Given the description of an element on the screen output the (x, y) to click on. 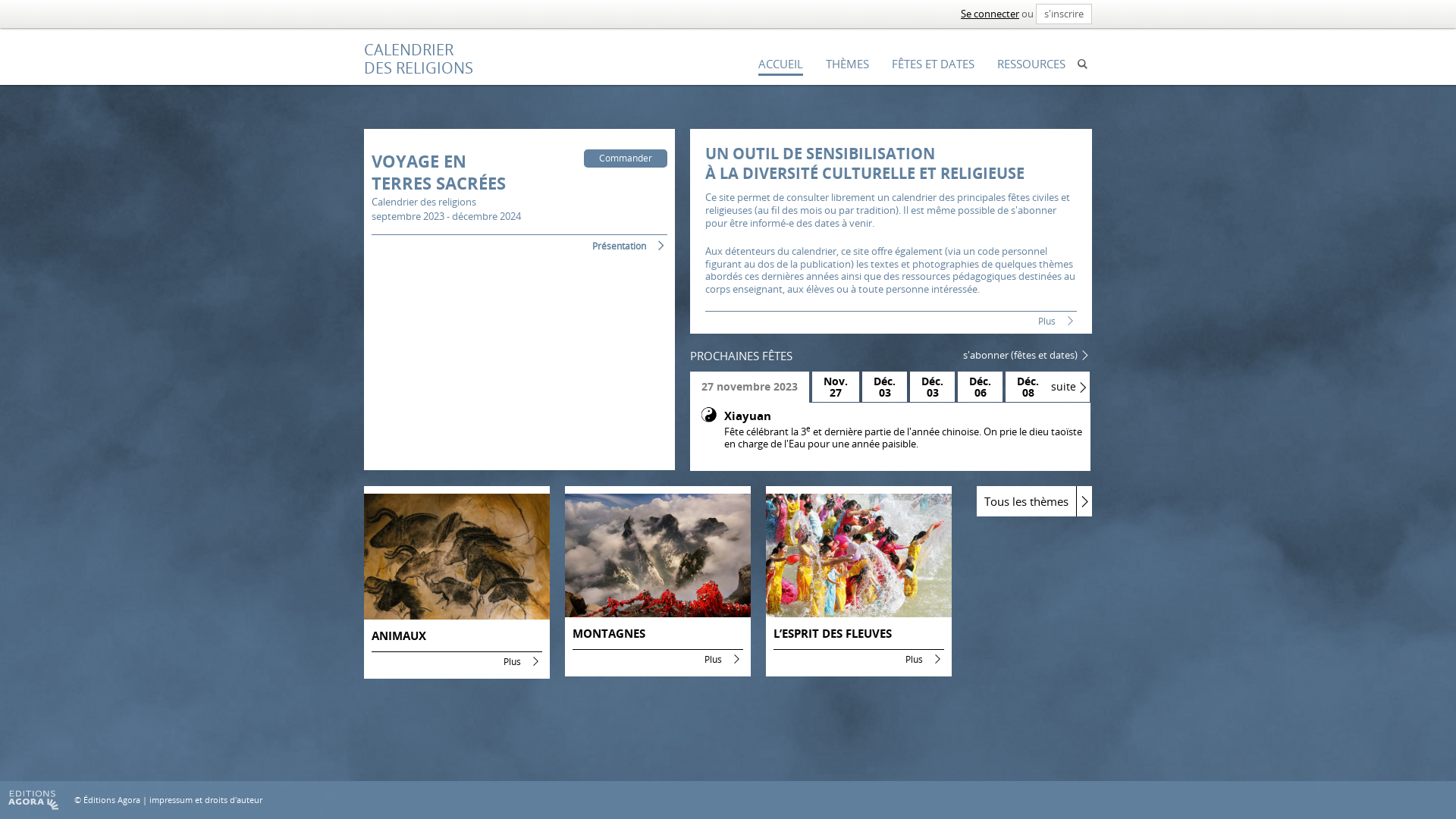
Plus
> Element type: text (456, 661)
Plus
> Element type: text (890, 320)
Nov.
27 Element type: text (835, 386)
L Element type: text (1082, 63)
27 novembre 2023 Element type: text (749, 386)
Commander Element type: text (625, 158)
suite > Element type: text (1068, 386)
impressum et droits d'auteur Element type: text (205, 799)
s'inscrire Element type: text (1063, 13)
ACCUEIL Element type: text (780, 64)
Se connecter Element type: text (989, 13)
RESSOURCES Element type: text (1031, 64)
Plus
> Element type: text (657, 658)
Plus
> Element type: text (858, 658)
CALENDRIER
DES RELIGIONS Element type: text (418, 58)
